Given the description of an element on the screen output the (x, y) to click on. 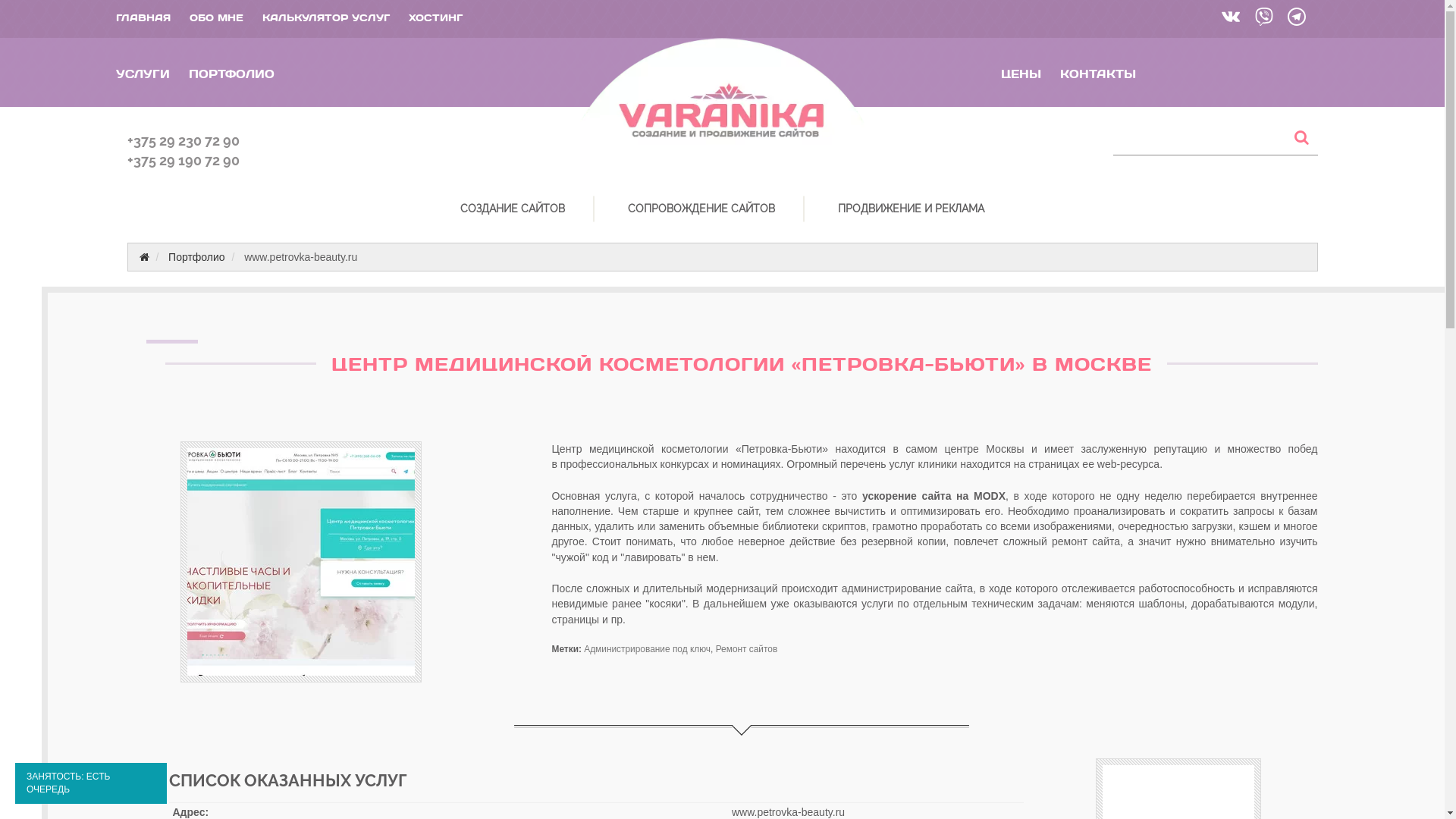
viber Element type: hover (1261, 18)
